Given the description of an element on the screen output the (x, y) to click on. 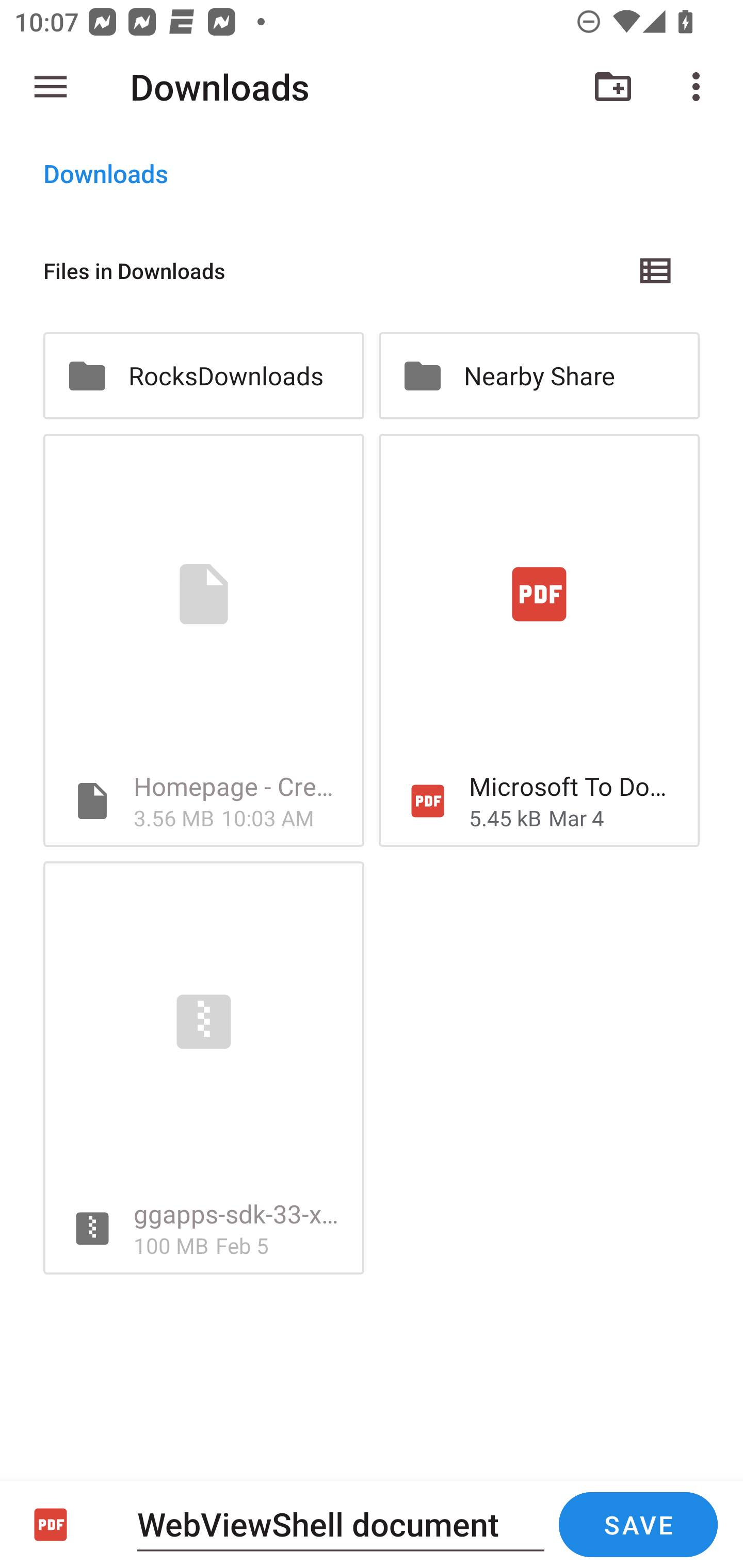
Show roots (50, 86)
New folder (612, 86)
More options (699, 86)
List view (655, 270)
RocksDownloads (203, 375)
Nearby Share (538, 375)
Homepage - Creative Commons 3.56 MB 10:03 AM (203, 640)
Microsoft To DoFlight Booking.pdf 5.45 kB Mar 4 (538, 640)
ggapps-sdk-33-x86_64-20231003.zip 100 MB Feb 5 (203, 1067)
SAVE (637, 1524)
WebViewShell document (340, 1523)
